Given the description of an element on the screen output the (x, y) to click on. 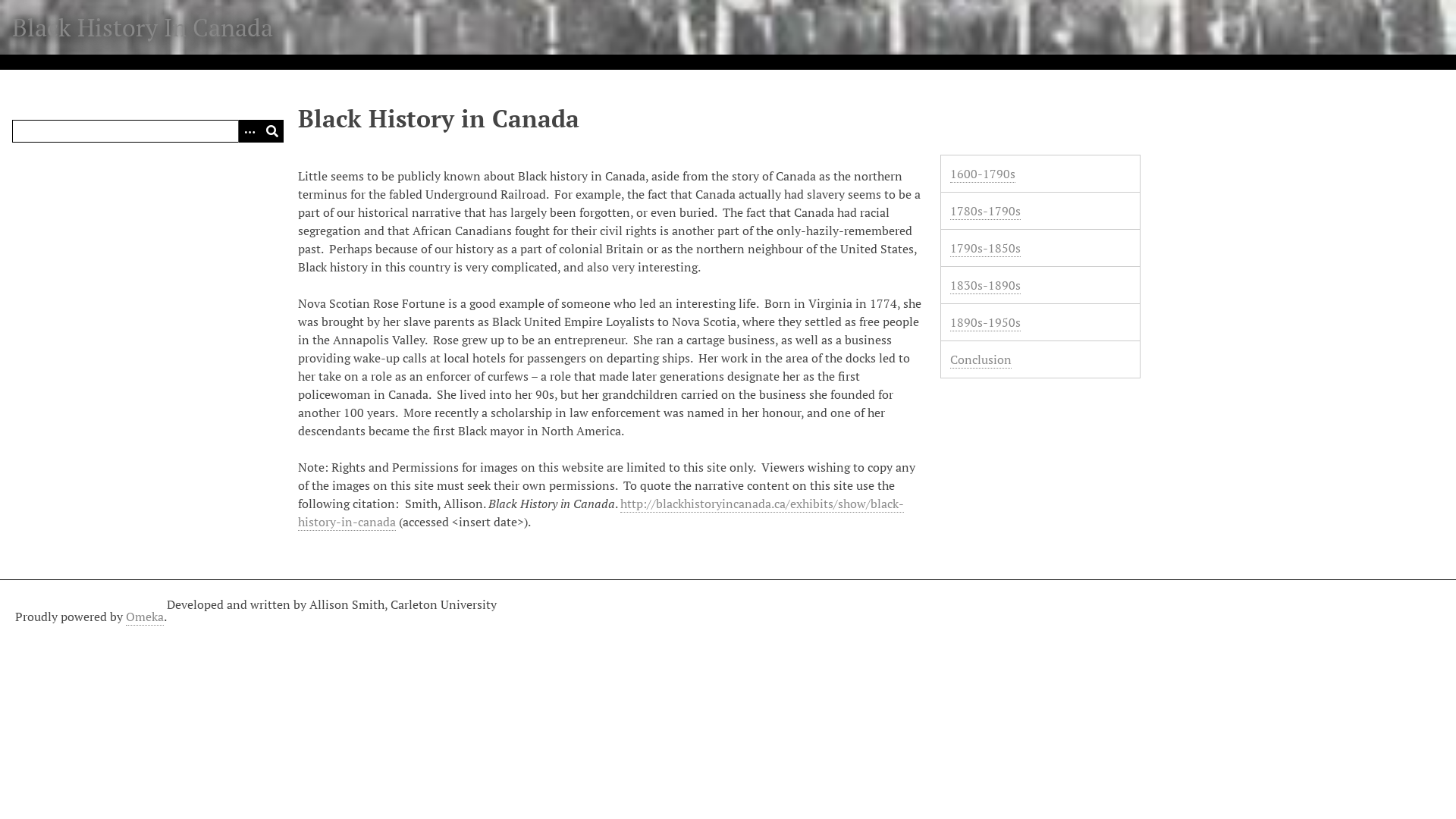
1890s-1950s Element type: text (985, 322)
1600-1790s Element type: text (982, 173)
1830s-1890s Element type: text (985, 285)
Submit Element type: text (271, 130)
1790s-1850s Element type: text (985, 248)
Options Element type: hover (249, 130)
Submit Element type: hover (271, 130)
Black History In Canada Element type: text (142, 27)
Omeka Element type: text (144, 616)
Query Element type: hover (147, 130)
1780s-1790s Element type: text (985, 210)
Conclusion Element type: text (980, 359)
